Given the description of an element on the screen output the (x, y) to click on. 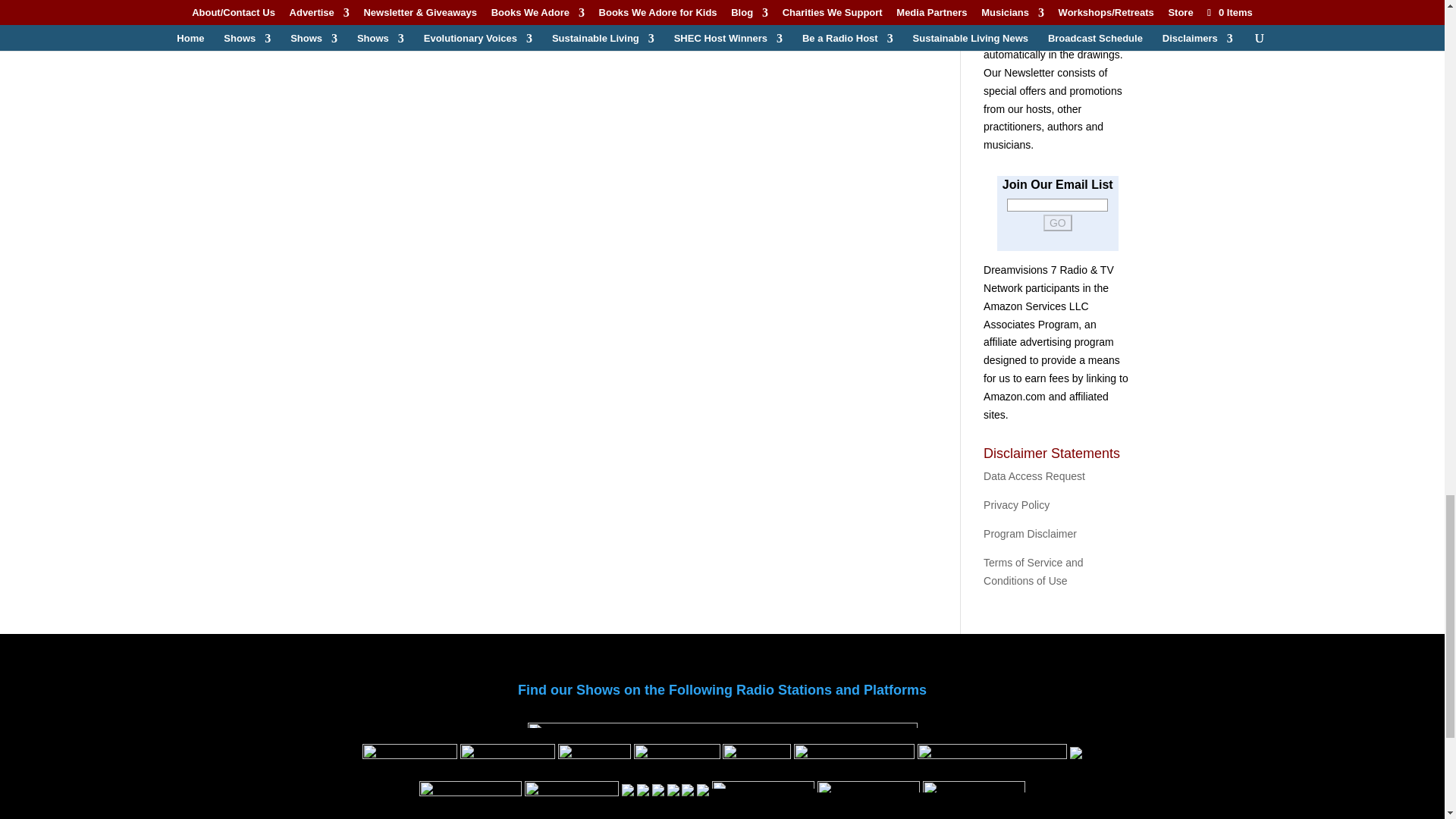
GO (1057, 222)
